Given the description of an element on the screen output the (x, y) to click on. 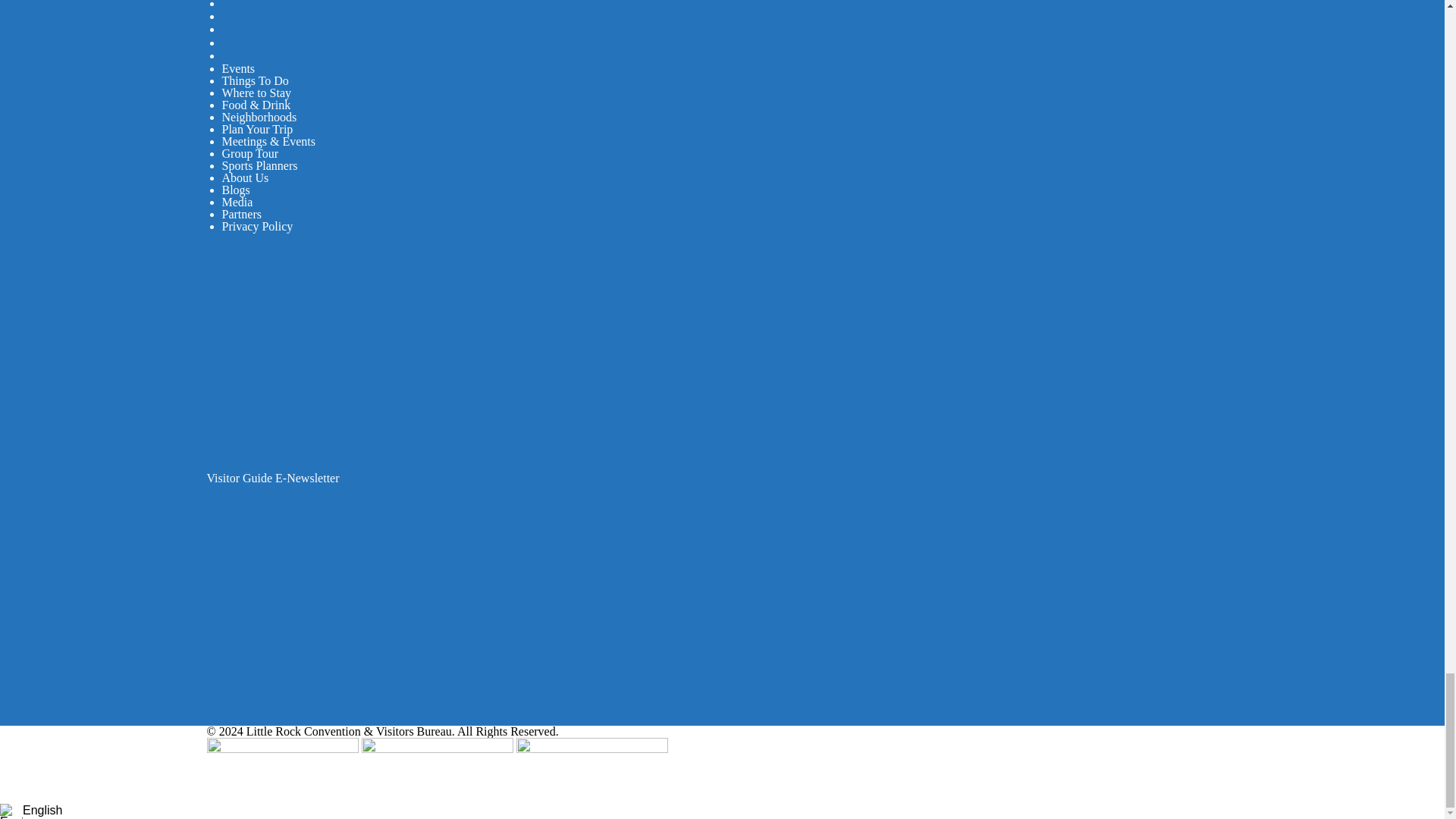
Events (237, 68)
Things To Do (254, 80)
